Given the description of an element on the screen output the (x, y) to click on. 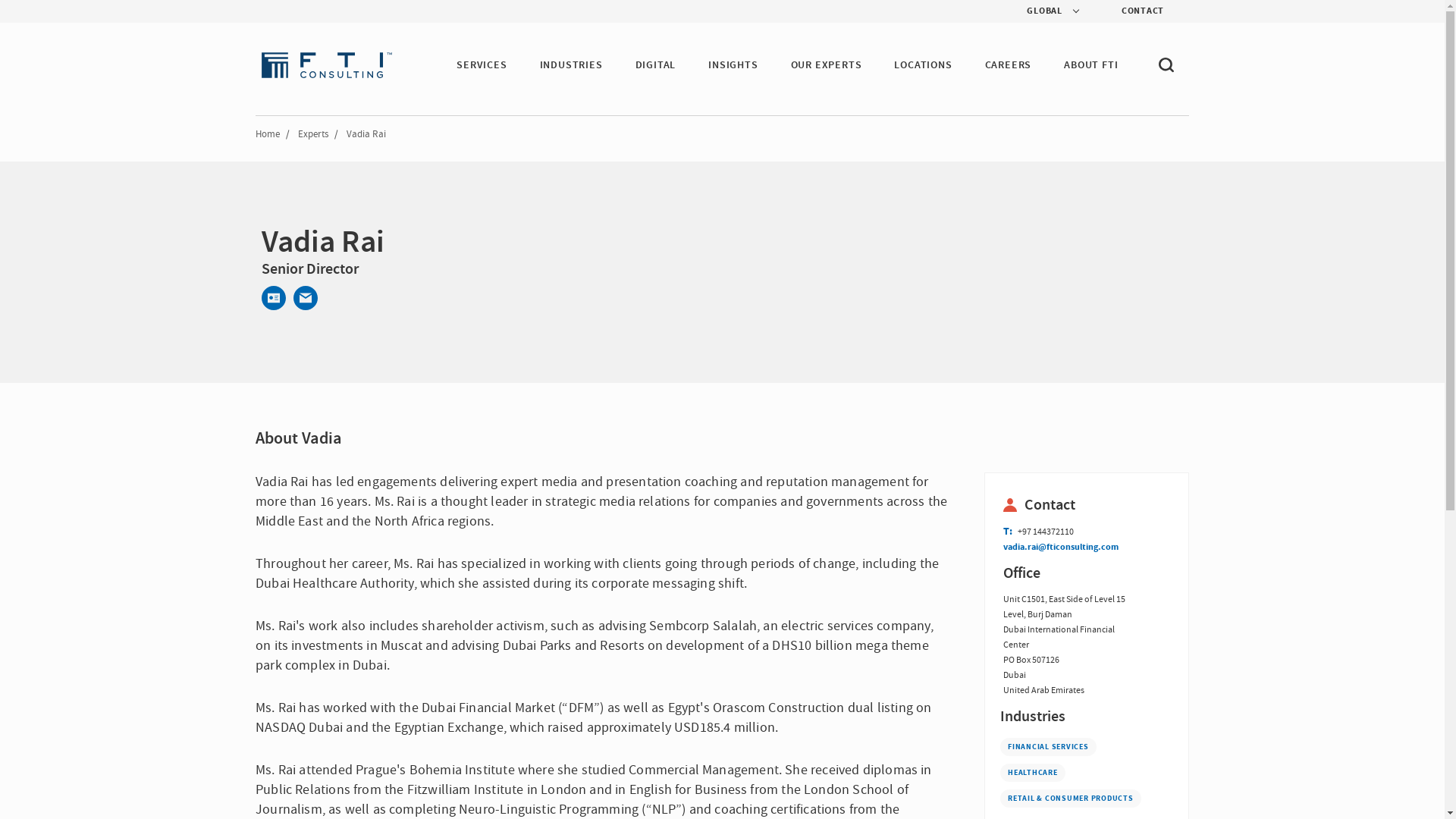
Healthcare (1032, 771)
Industries (1086, 715)
CONTACT (1129, 11)
Retail and Consumer Products (1070, 797)
Financial Services (1048, 746)
Key Contacts (1060, 505)
INDUSTRIES (571, 65)
SERVICES (481, 65)
